Given the description of an element on the screen output the (x, y) to click on. 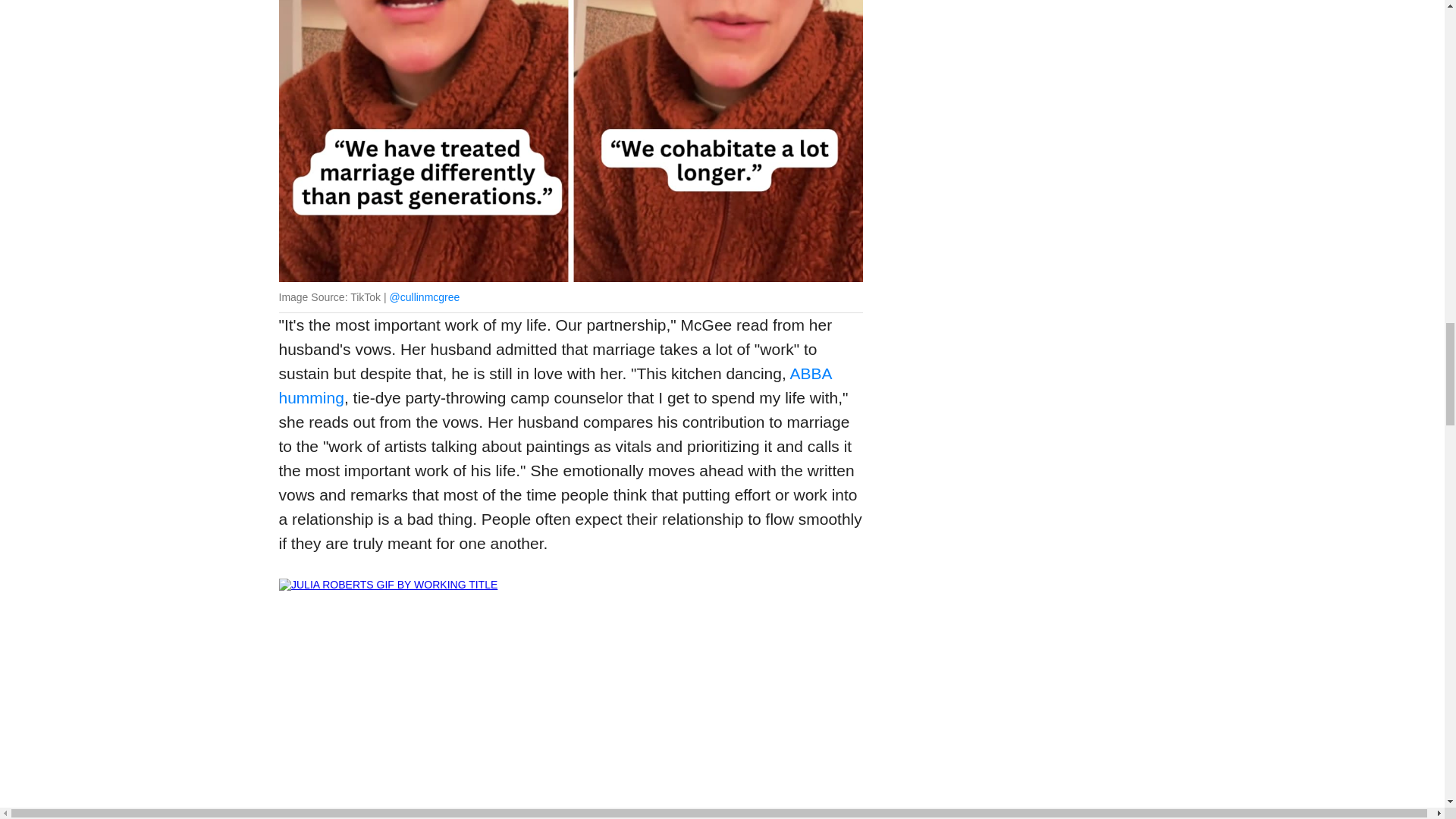
ABBA humming (555, 385)
